Given the description of an element on the screen output the (x, y) to click on. 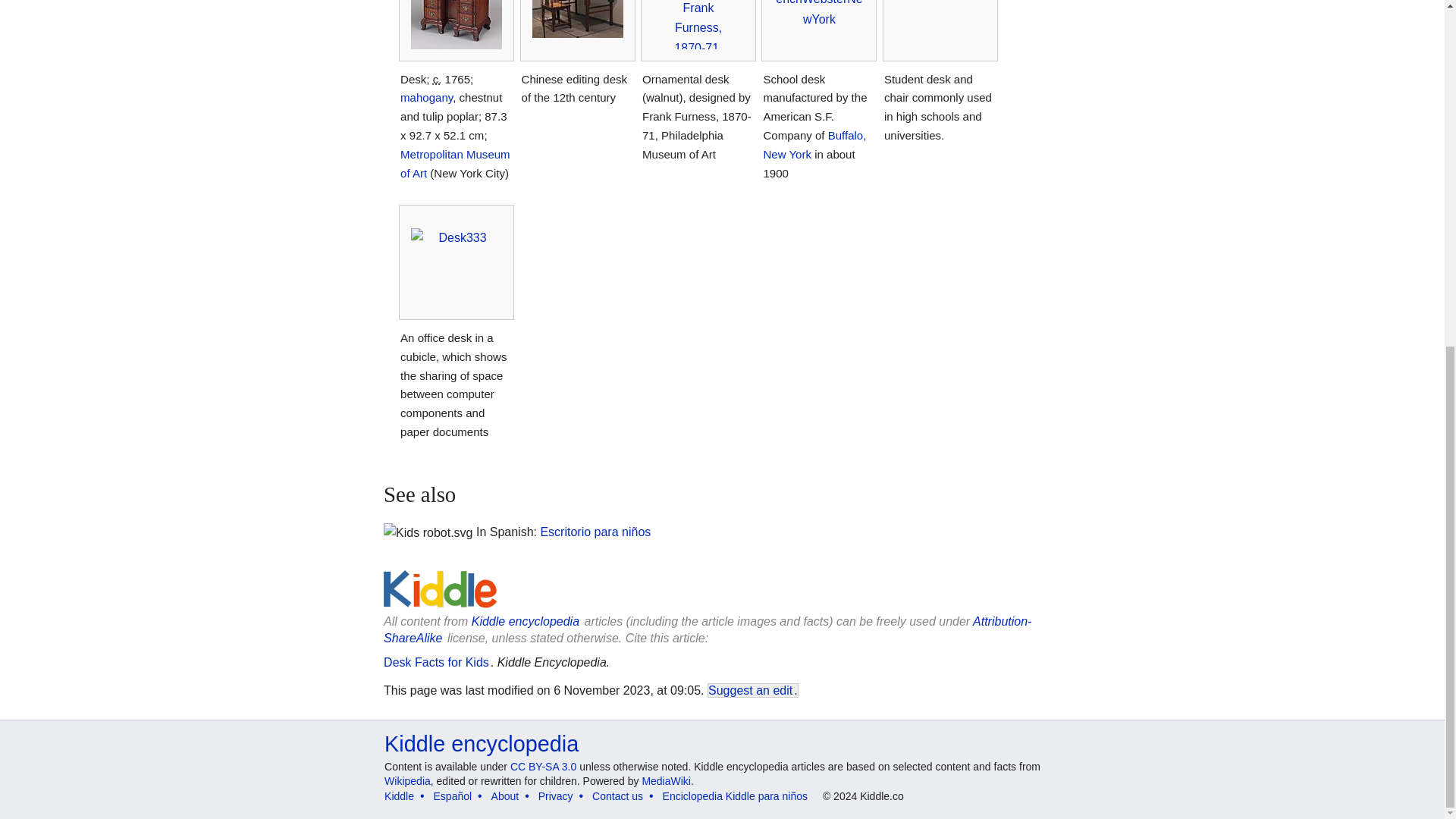
Buffalo, New York (814, 144)
Desk Facts for Kids (436, 662)
MediaWiki (666, 780)
Kiddle encyclopedia (481, 743)
Wikipedia (407, 780)
Buffalo, New York (814, 144)
Kiddle (398, 796)
Suggest an edit (749, 689)
Metropolitan Museum of Art (455, 163)
Kiddle encyclopedia (525, 621)
